Given the description of an element on the screen output the (x, y) to click on. 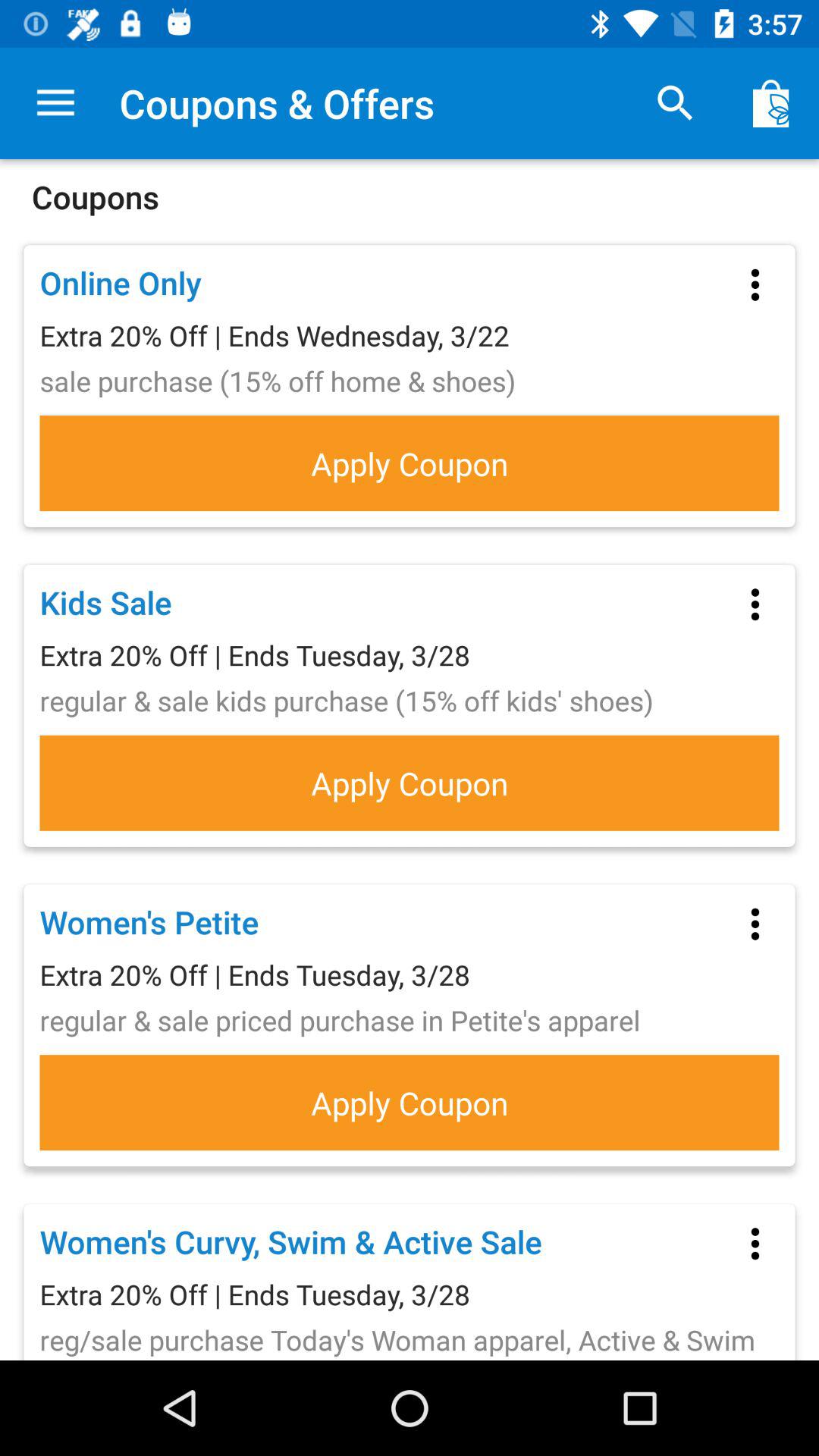
choose the item above coupons (55, 103)
